Given the description of an element on the screen output the (x, y) to click on. 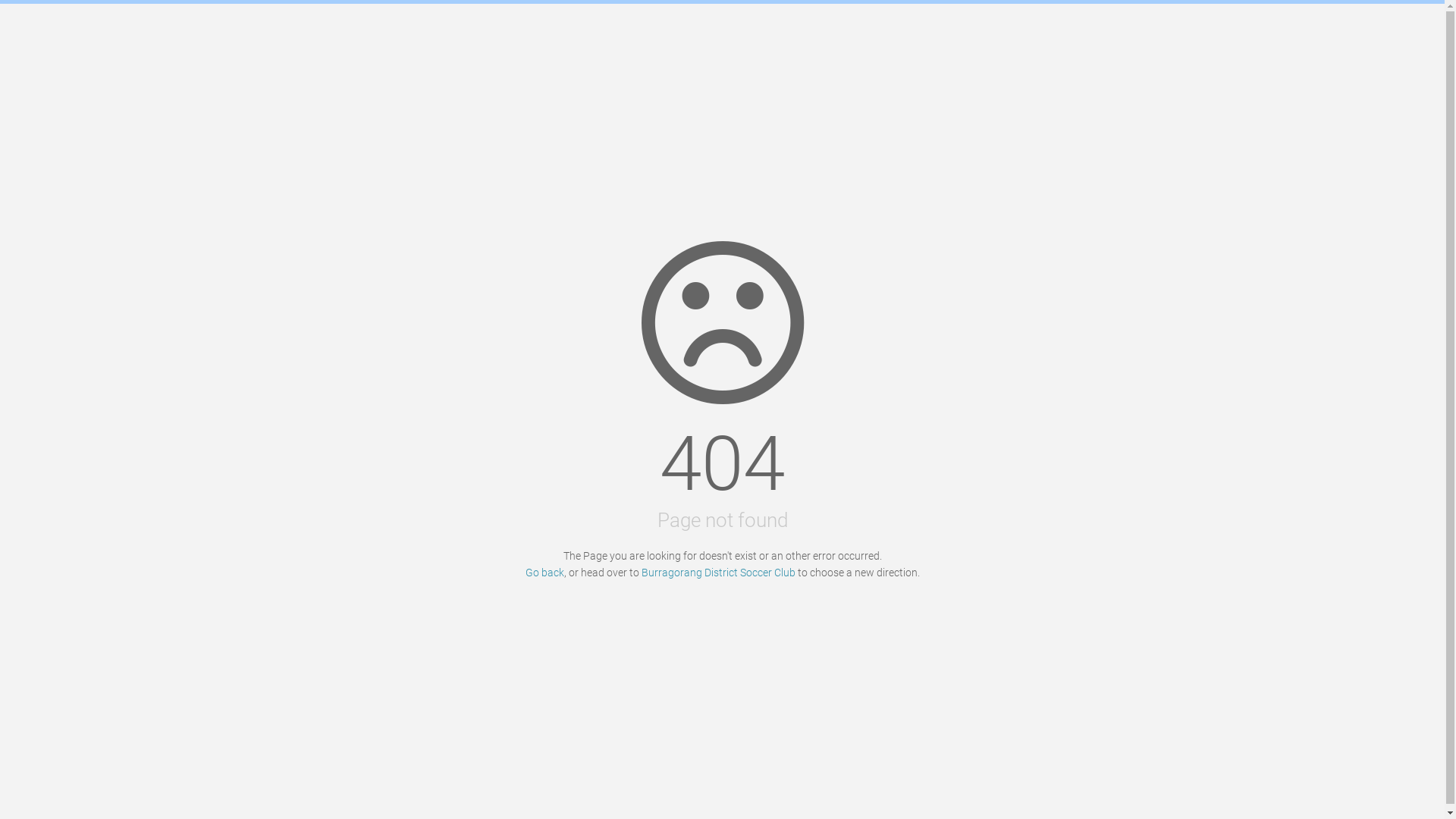
Burragorang District Soccer Club Element type: text (718, 572)
Go back Element type: text (543, 572)
